Given the description of an element on the screen output the (x, y) to click on. 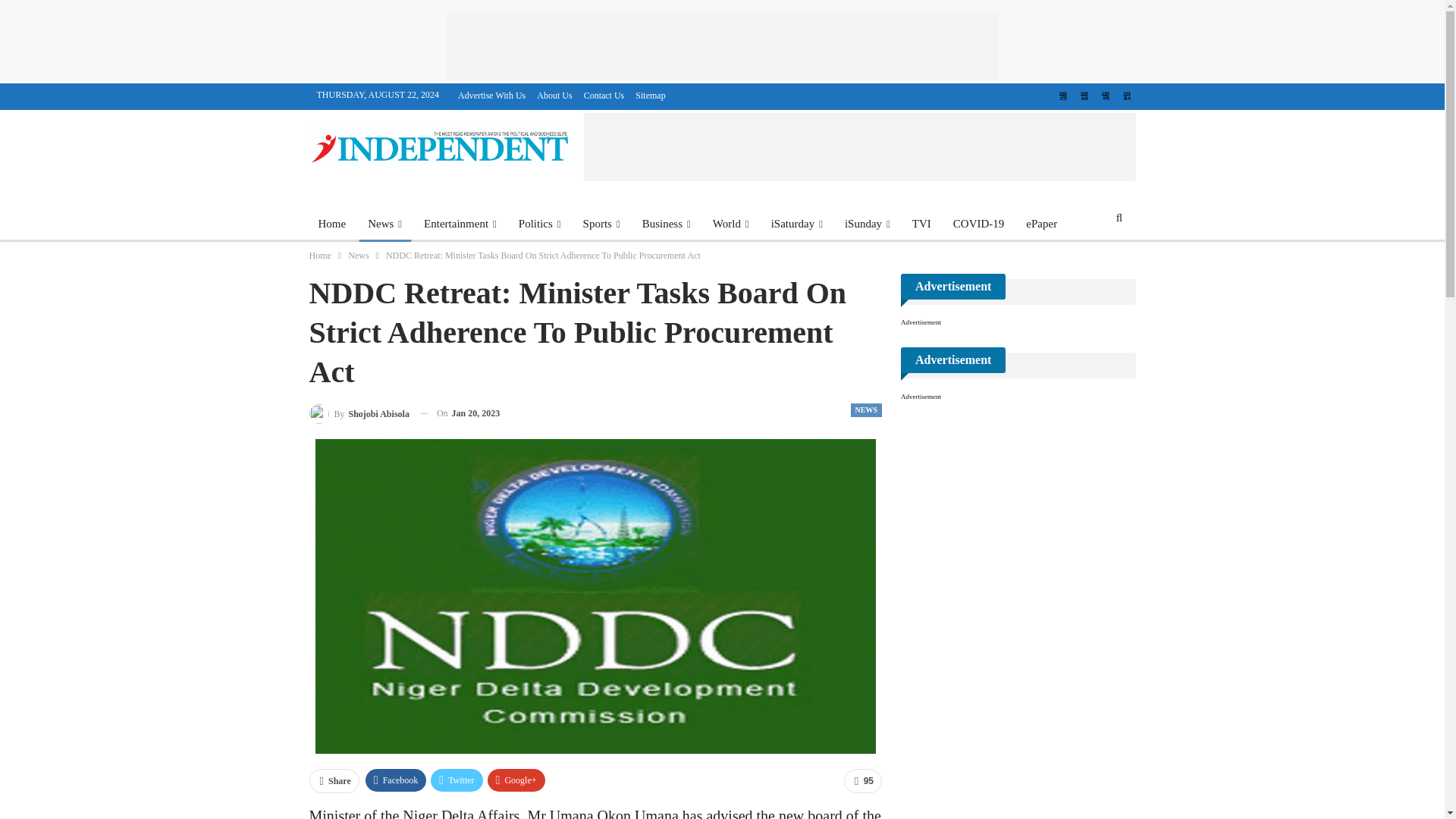
Contact Us (603, 95)
Advertisement (859, 146)
Advertisement (721, 45)
News (384, 223)
Politics (539, 223)
Sitemap (649, 95)
Home (331, 223)
About Us (554, 95)
Entertainment (459, 223)
Advertise With Us (491, 95)
